Given the description of an element on the screen output the (x, y) to click on. 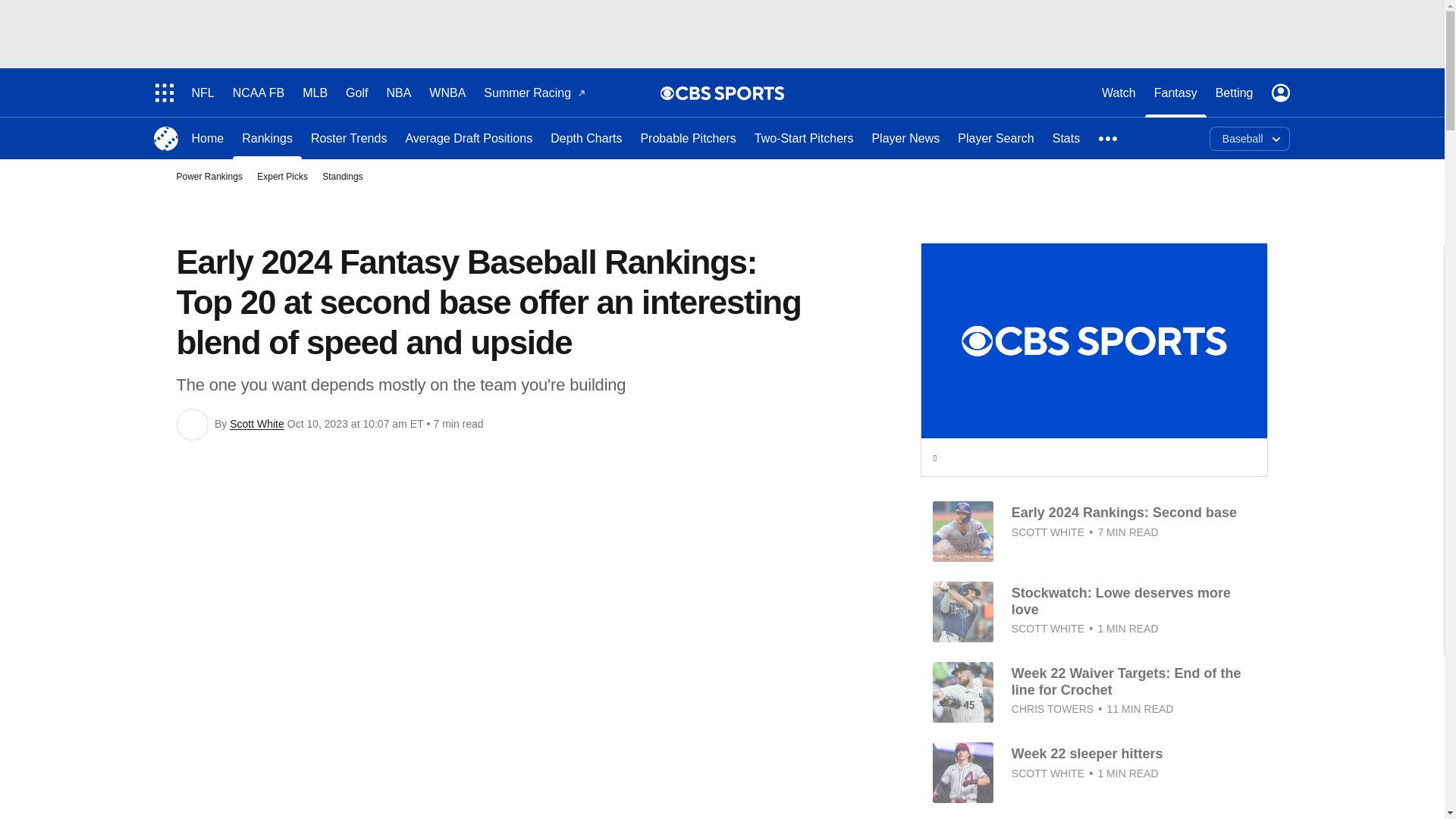
CBS Eye (667, 92)
CBS Logo (729, 92)
SportsMlb (164, 137)
